Given the description of an element on the screen output the (x, y) to click on. 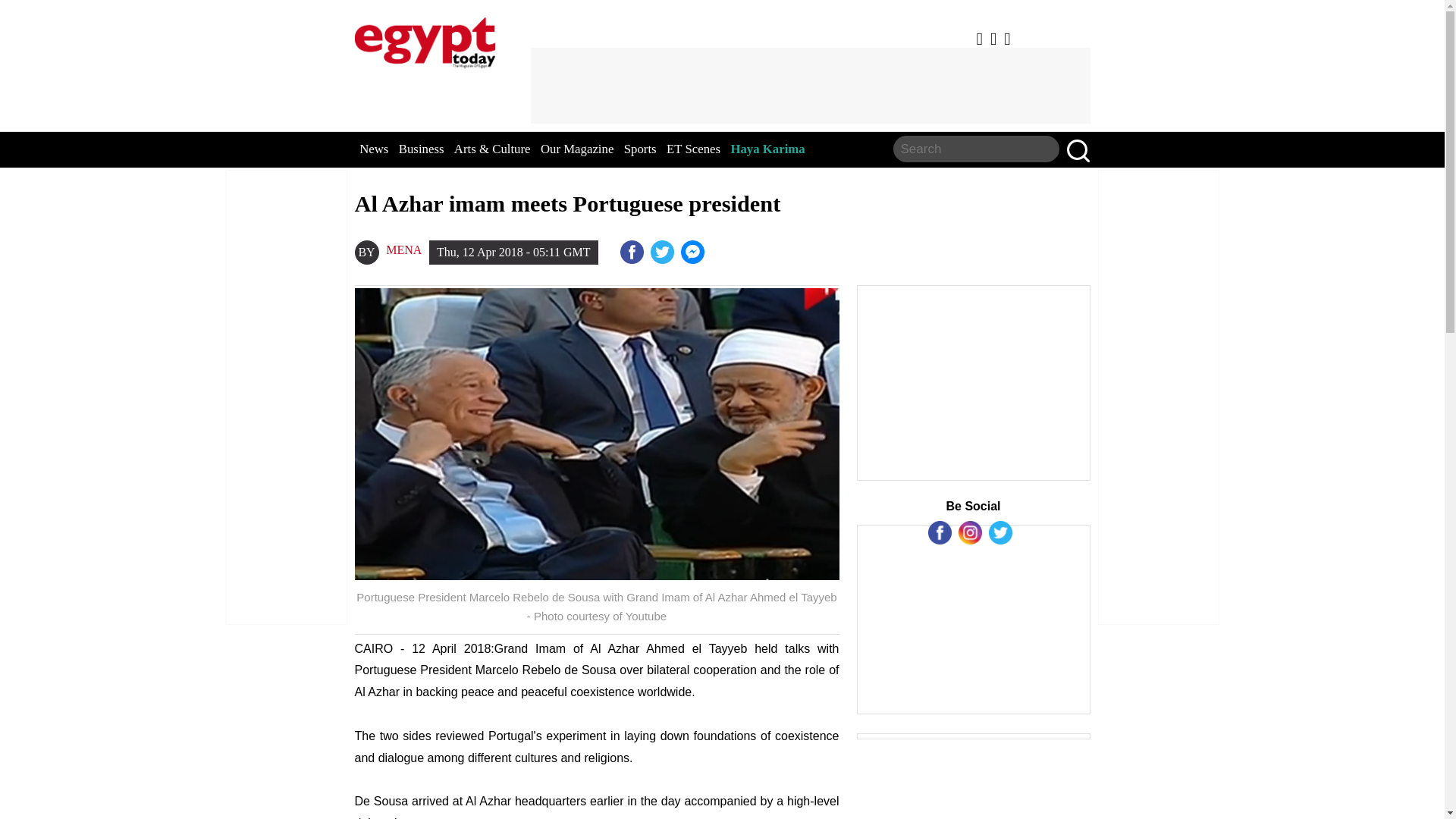
Sisi heads to Guinea first destination in overseas tour (694, 251)
Sports (640, 149)
Business (421, 149)
Our Magazine (576, 149)
Haya Karima (767, 149)
ET Scenes (693, 149)
MENA (403, 250)
EgyptToday (425, 39)
